Given the description of an element on the screen output the (x, y) to click on. 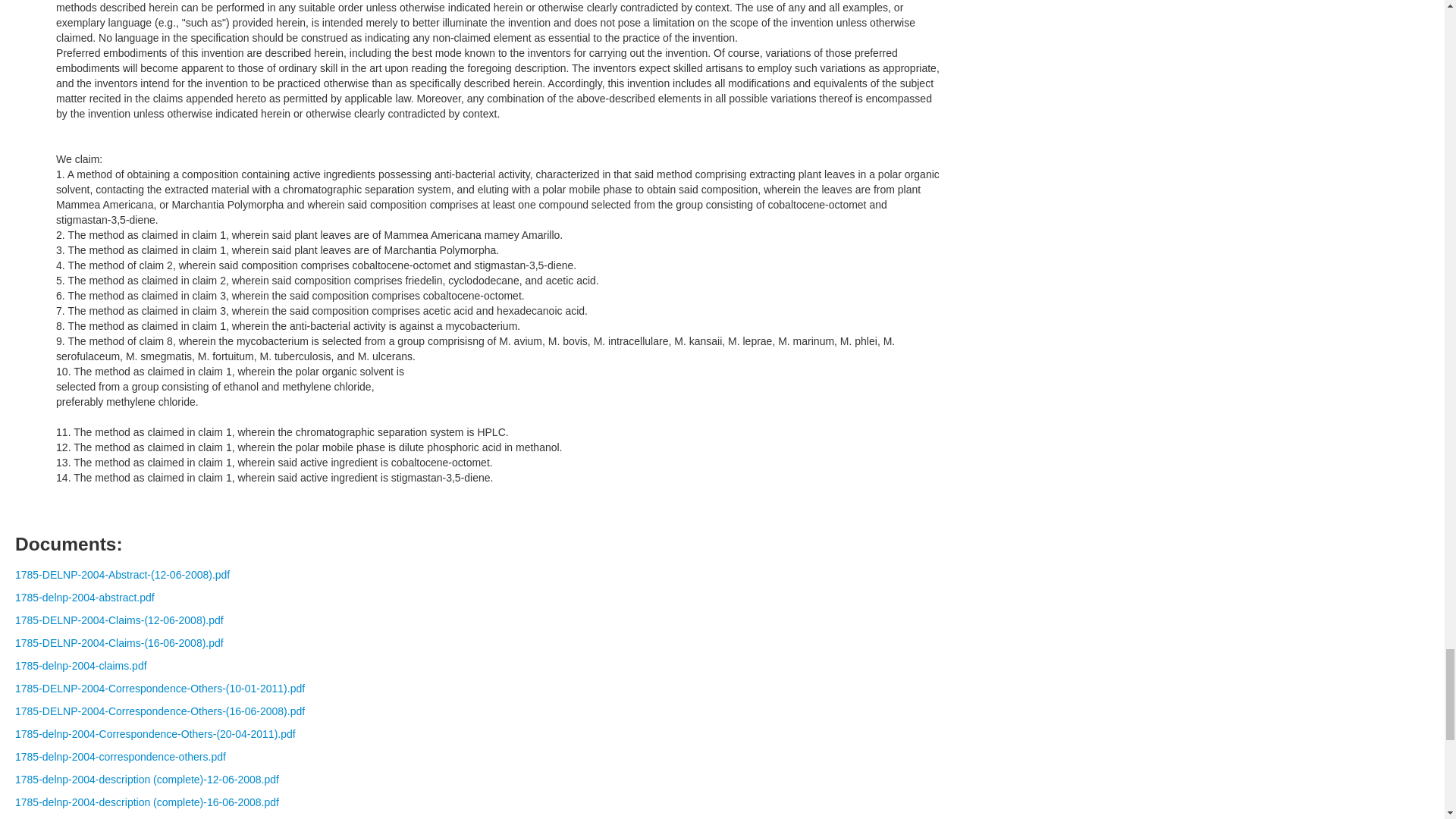
1785-delnp-2004-claims.pdf (80, 665)
1785-delnp-2004-correspondence-others.pdf (119, 756)
1785-delnp-2004-abstract.pdf (84, 597)
